Given the description of an element on the screen output the (x, y) to click on. 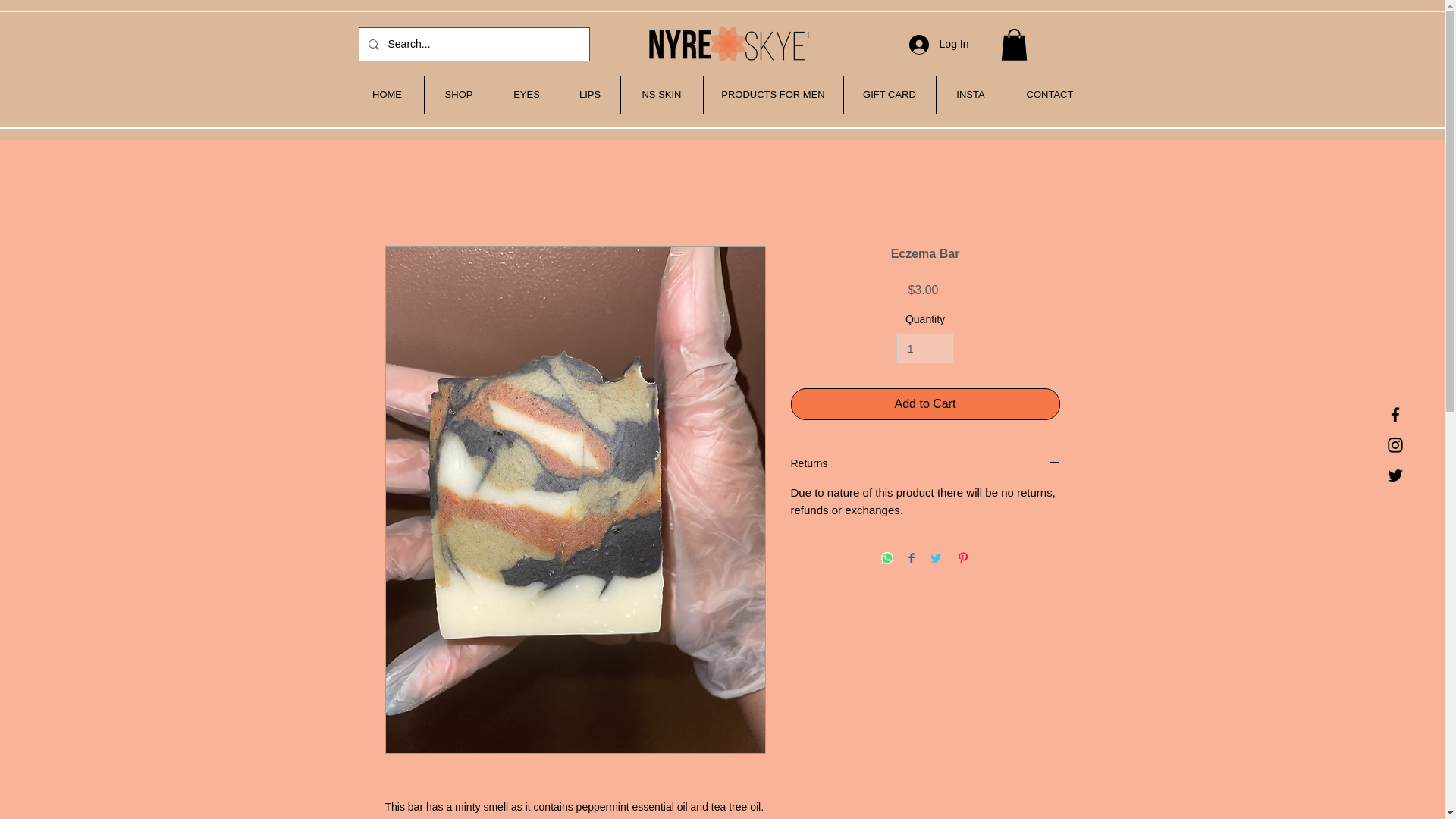
Returns (924, 464)
Log In (938, 44)
1 (924, 347)
GIFT CARD (888, 94)
NS SKIN (660, 94)
LIPS (589, 94)
SHOP (459, 94)
INSTA (970, 94)
HOME (386, 94)
CONTACT (1049, 94)
PRODUCTS FOR MEN (773, 94)
EYES (527, 94)
Add to Cart (924, 404)
